Given the description of an element on the screen output the (x, y) to click on. 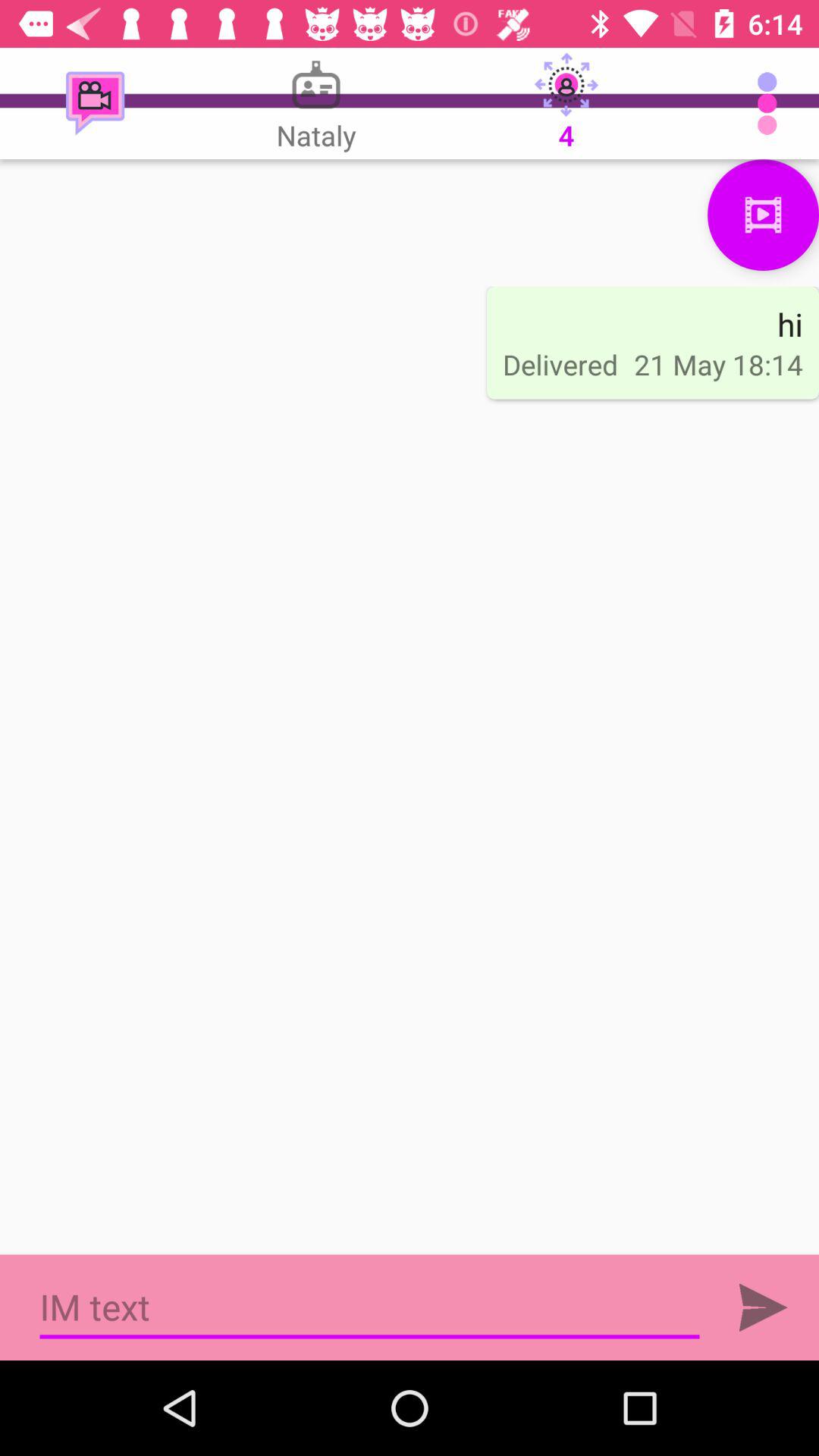
add text (763, 1307)
